Given the description of an element on the screen output the (x, y) to click on. 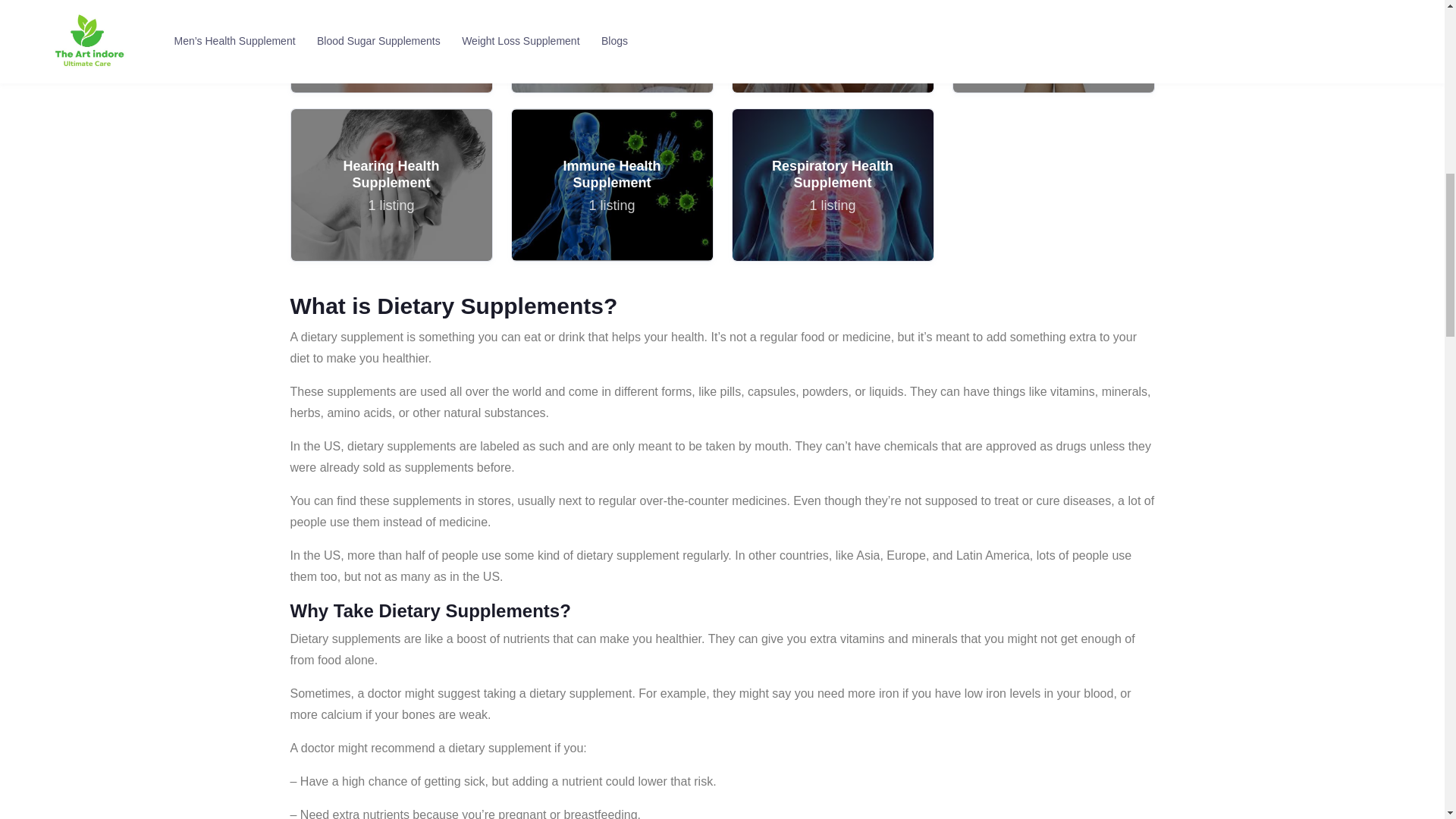
Immune Health Supplement (611, 184)
Respiratory Health Supplement (832, 184)
Mens Health Supplements (611, 46)
Hearing Health Supplement (390, 184)
Brain Health Supplements (612, 184)
Hair Health Supplements (390, 46)
Skin Care Supplement (1053, 46)
